Given the description of an element on the screen output the (x, y) to click on. 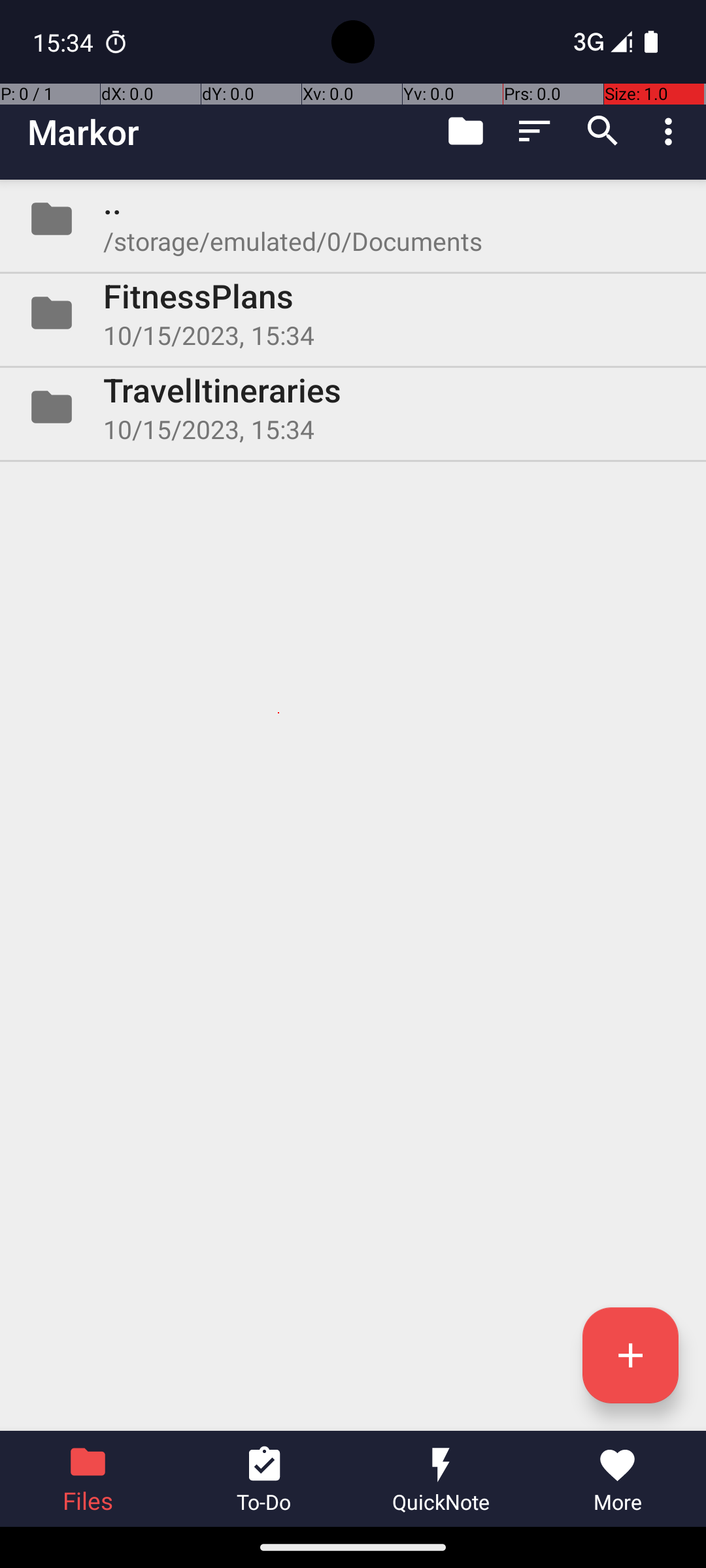
Folder FitnessPlans  Element type: android.widget.LinearLayout (353, 312)
Folder TravelItineraries  Element type: android.widget.LinearLayout (353, 406)
